Given the description of an element on the screen output the (x, y) to click on. 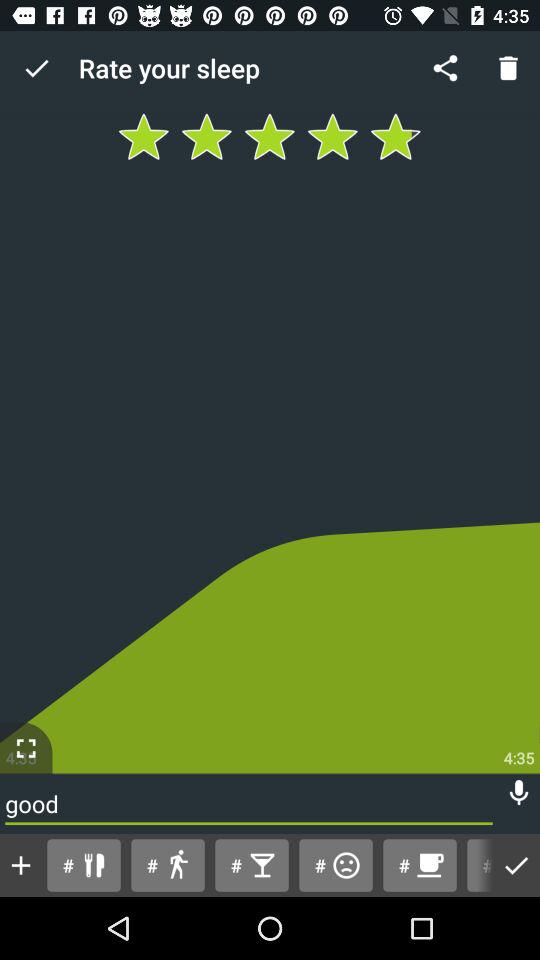
turn on # (419, 864)
